Given the description of an element on the screen output the (x, y) to click on. 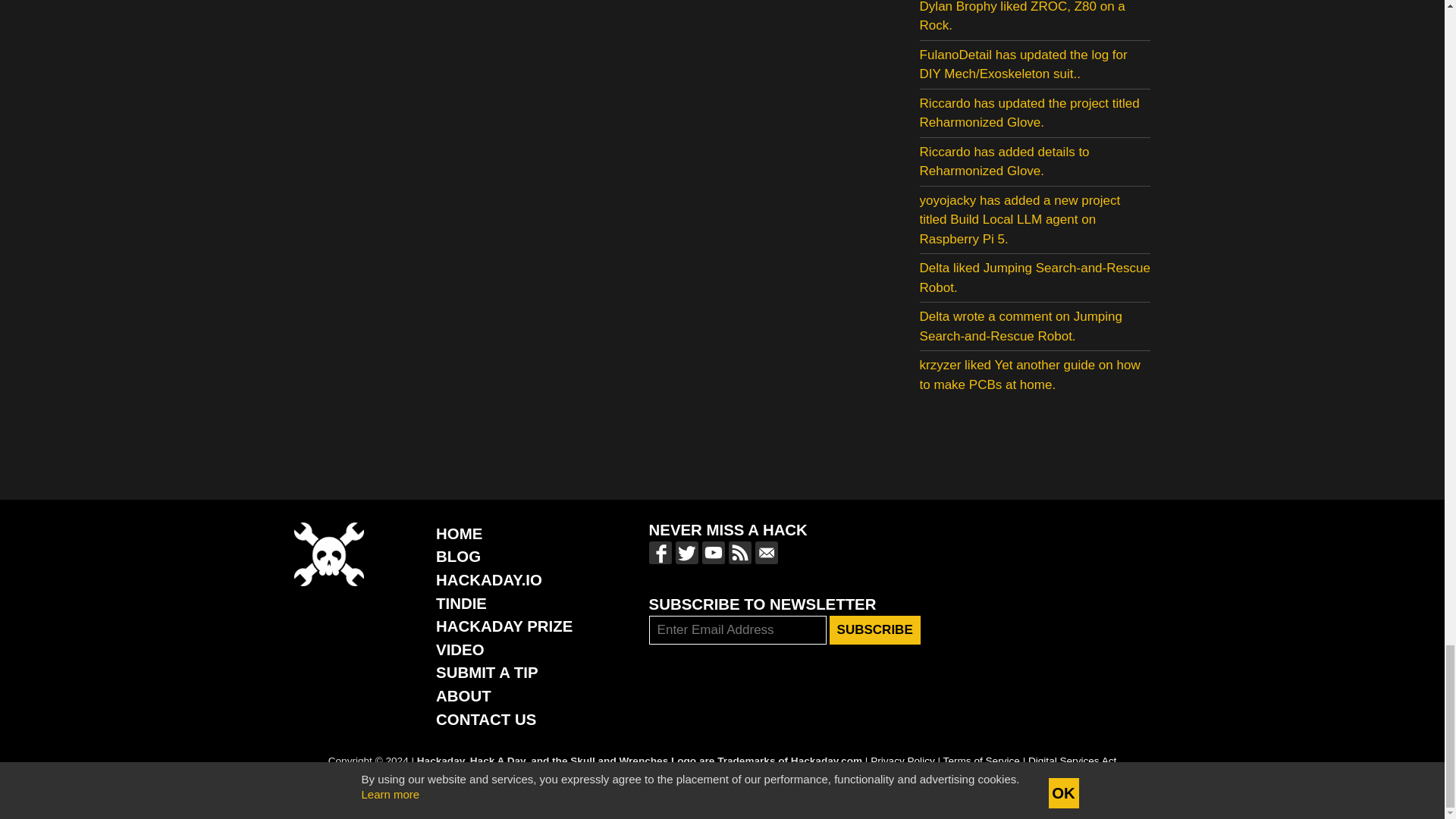
Subscribe (874, 629)
Build Something that Matters (503, 626)
